Given the description of an element on the screen output the (x, y) to click on. 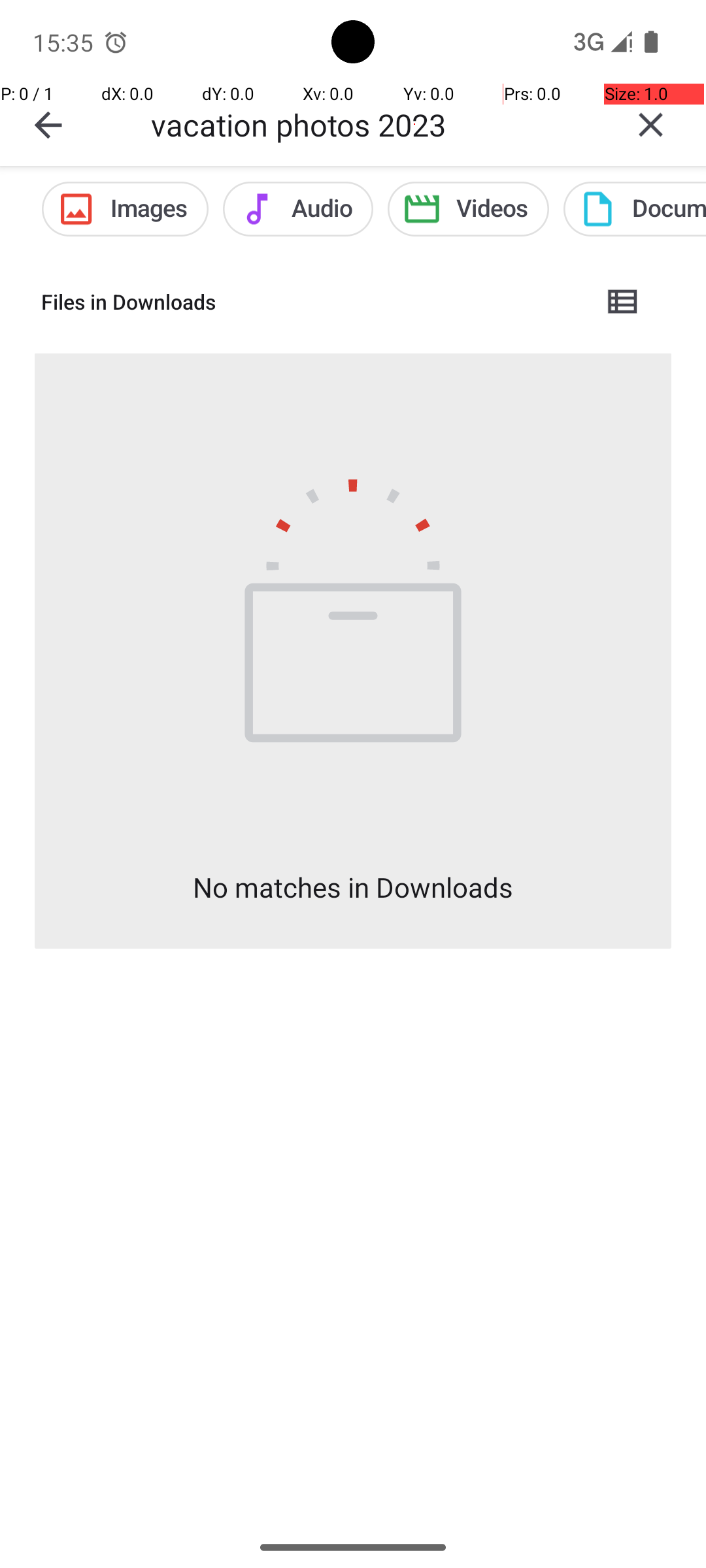
vacation photos 2023 Element type: android.widget.AutoCompleteTextView (373, 124)
